Given the description of an element on the screen output the (x, y) to click on. 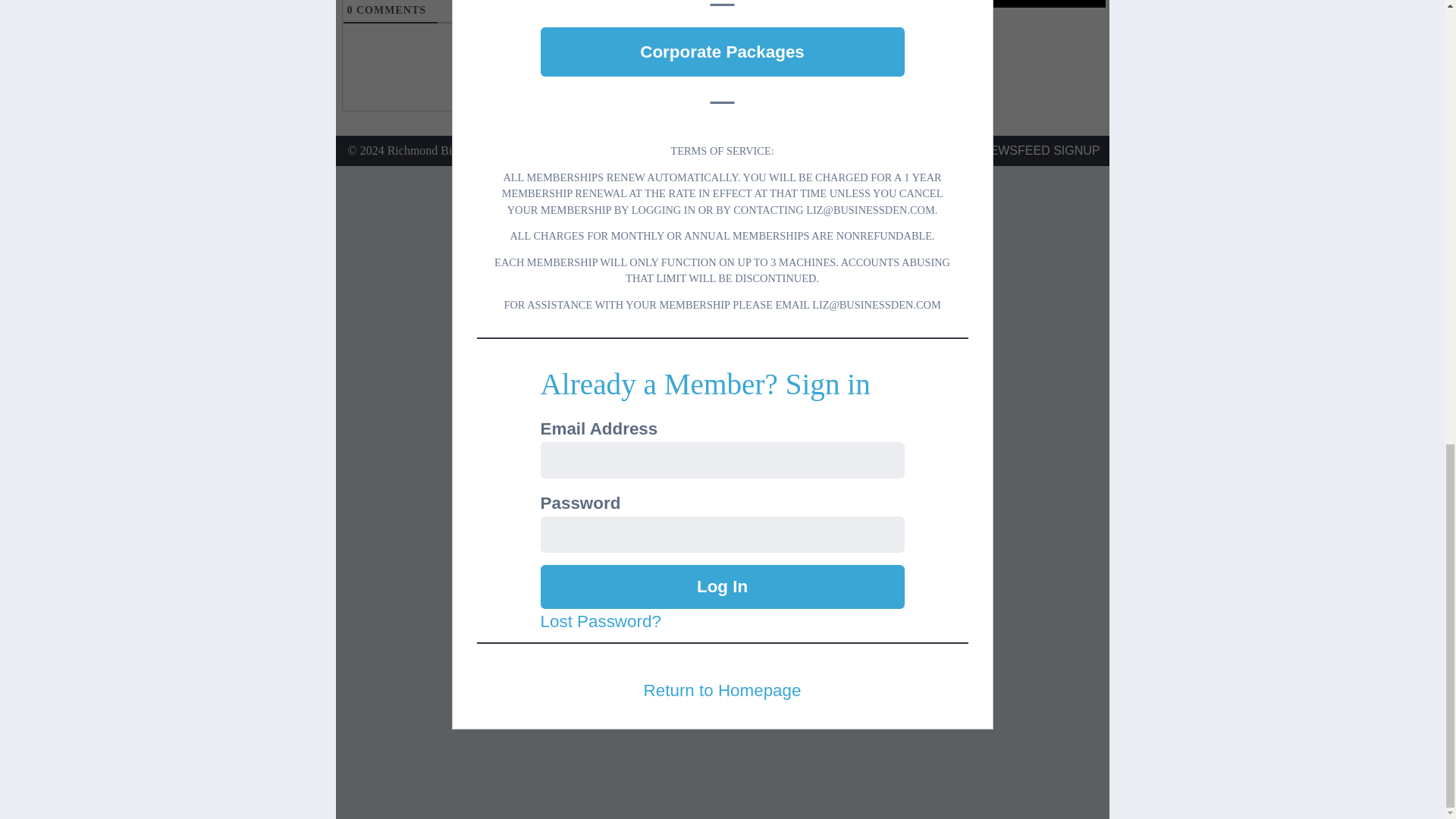
Log In (722, 587)
